Given the description of an element on the screen output the (x, y) to click on. 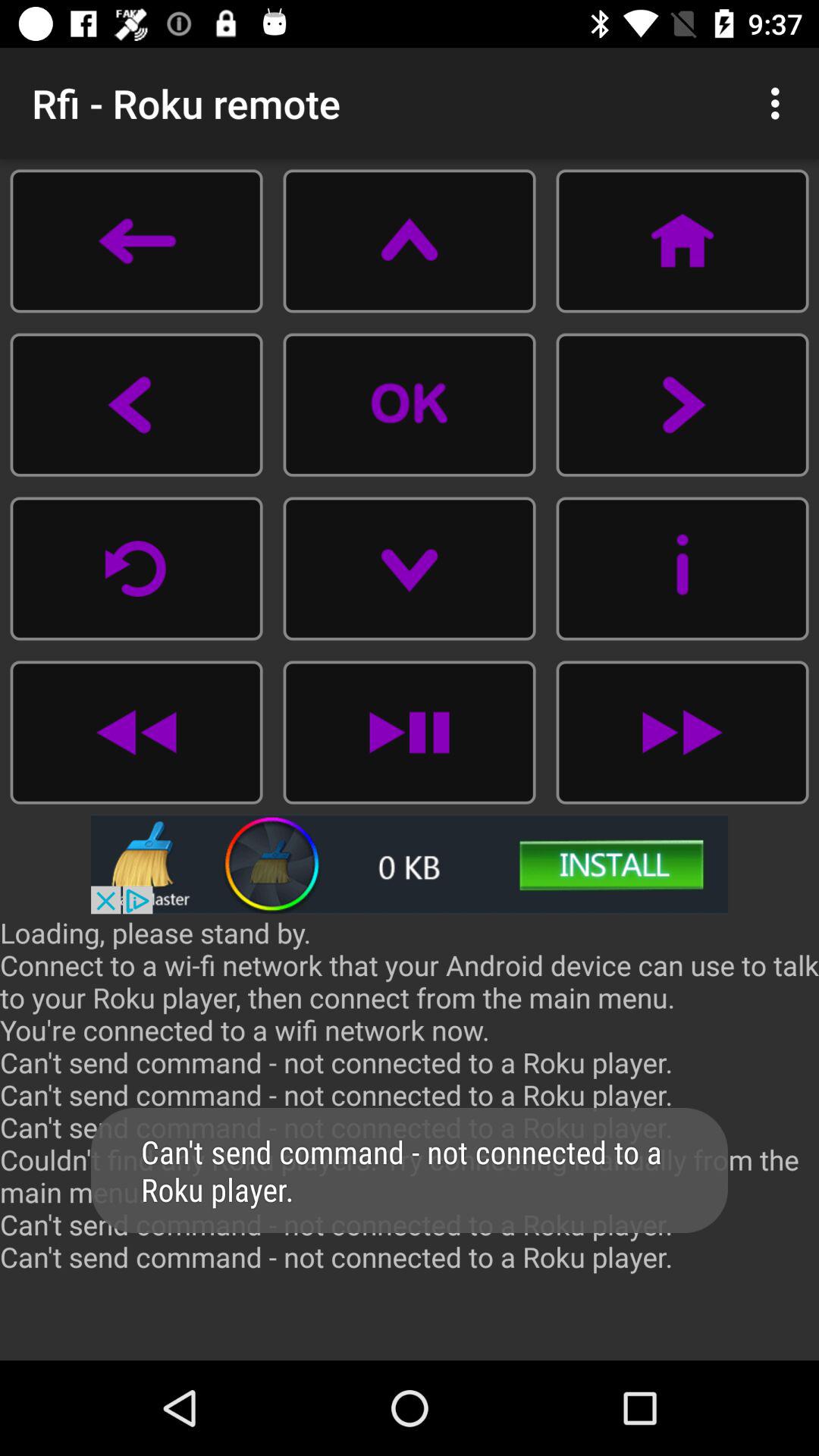
to play video (409, 404)
